Given the description of an element on the screen output the (x, y) to click on. 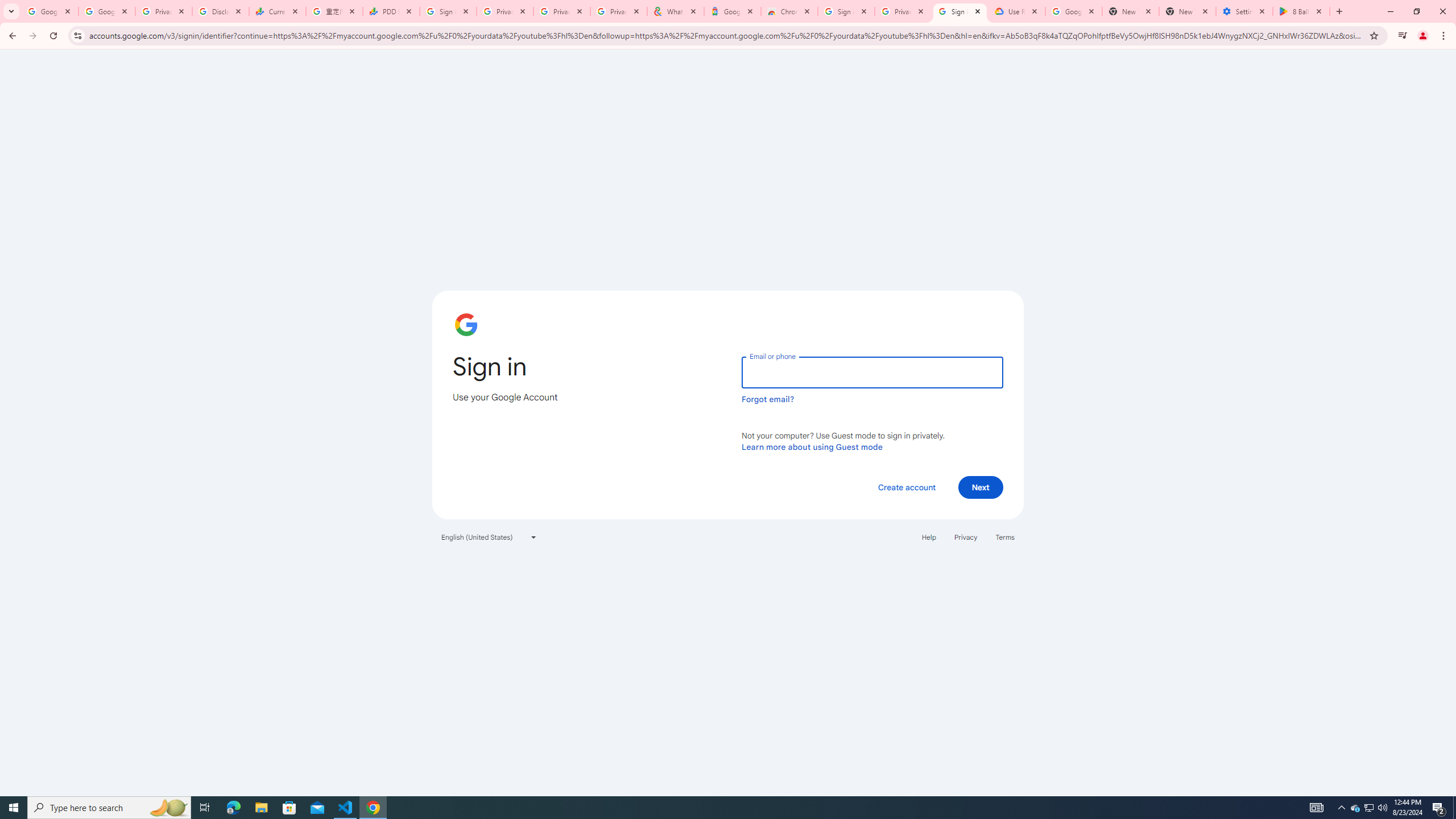
8 Ball Pool - Apps on Google Play (1301, 11)
Google Workspace Admin Community (49, 11)
PDD Holdings Inc - ADR (PDD) Price & News - Google Finance (391, 11)
Currencies - Google Finance (277, 11)
Sign in - Google Accounts (845, 11)
Google (731, 11)
